Given the description of an element on the screen output the (x, y) to click on. 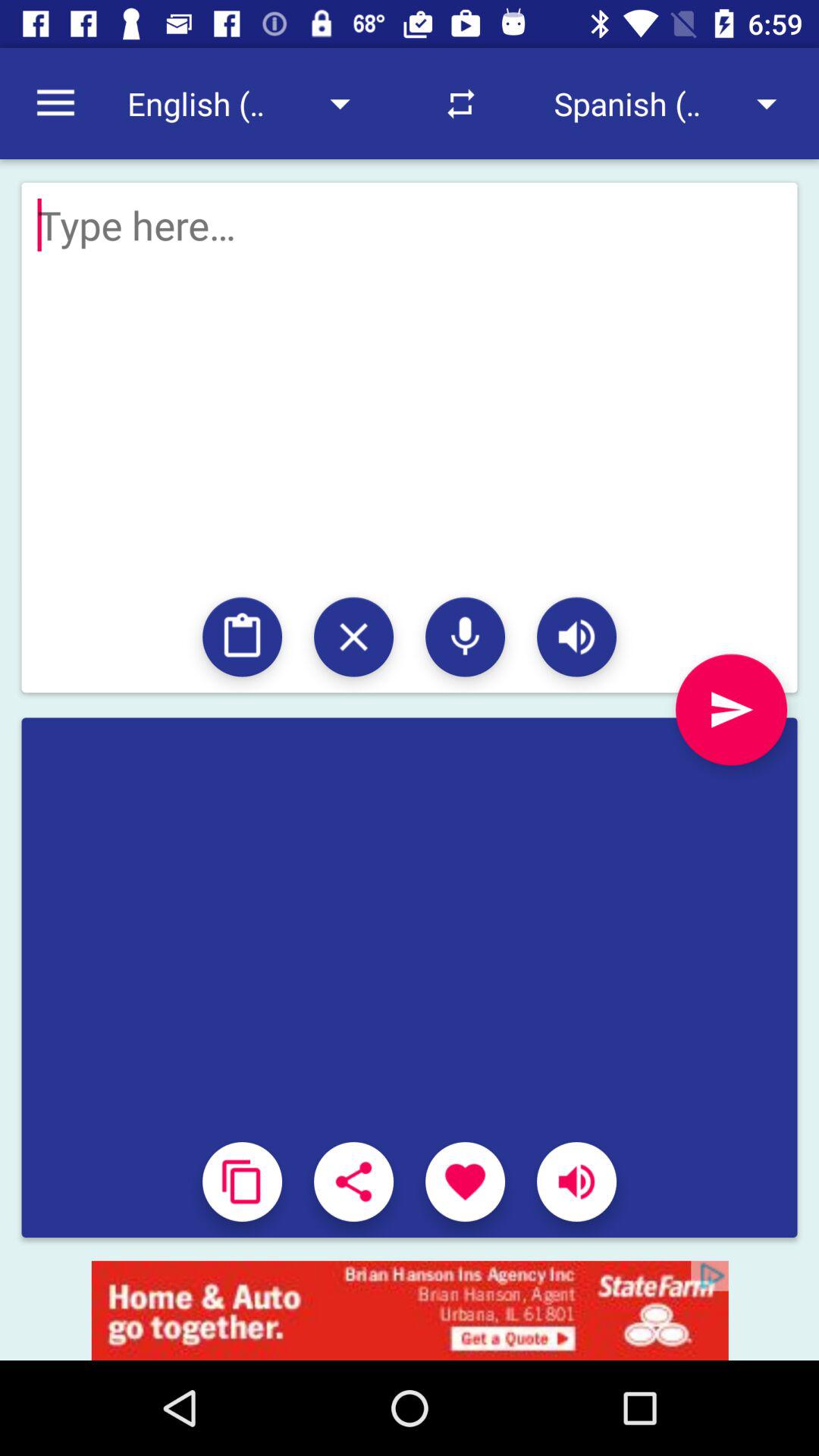
access clipboard (242, 636)
